Given the description of an element on the screen output the (x, y) to click on. 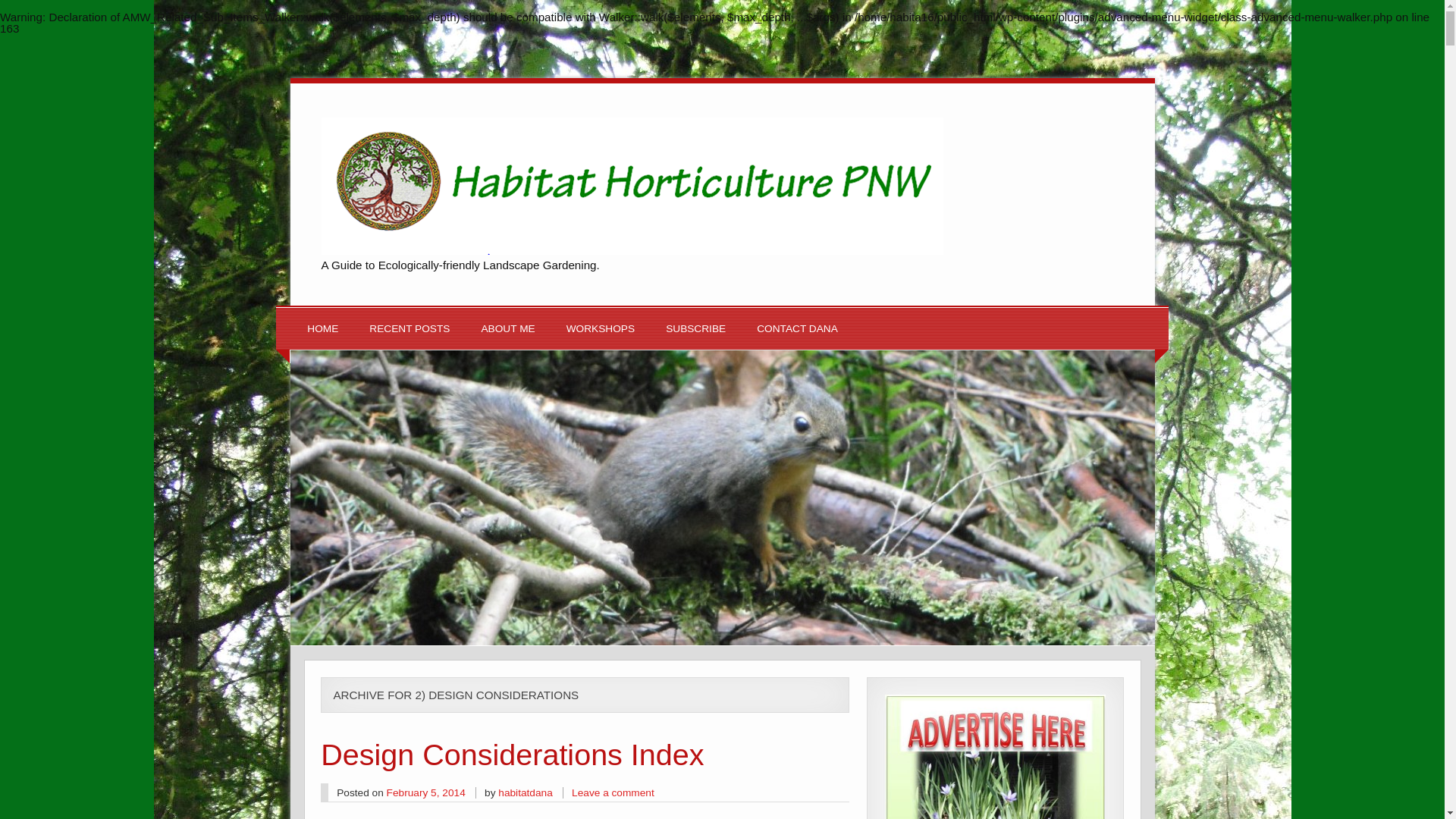
Habitat Horticulture PNW (632, 250)
View all posts by habitatdana (524, 792)
ABOUT ME (507, 328)
February 5, 2014 (426, 792)
Leave a comment (612, 792)
CONTACT DANA (797, 328)
habitatdana (524, 792)
Design Considerations Index (511, 754)
WORKSHOPS (600, 328)
11:29 AM (426, 792)
SUBSCRIBE (695, 328)
RECENT POSTS (409, 328)
